Given the description of an element on the screen output the (x, y) to click on. 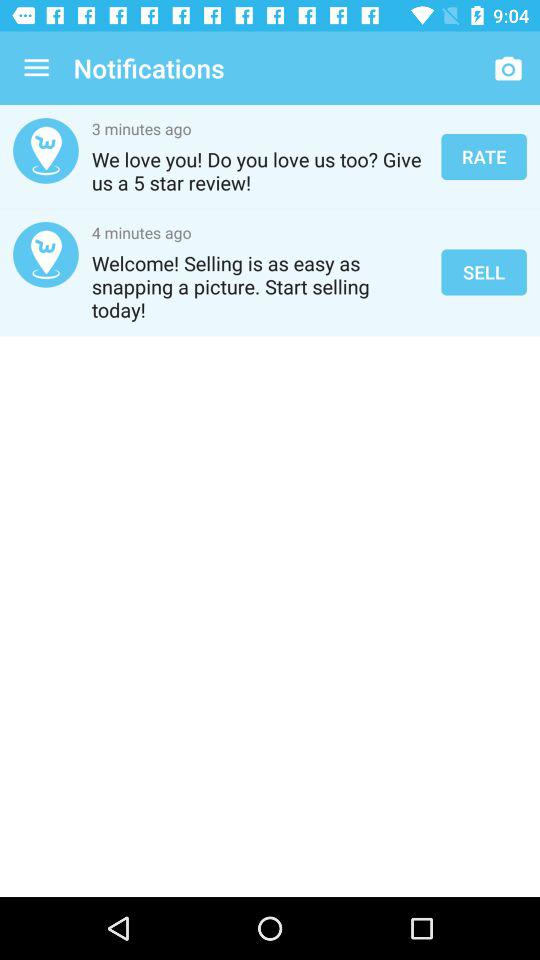
press item above sell (483, 156)
